Given the description of an element on the screen output the (x, y) to click on. 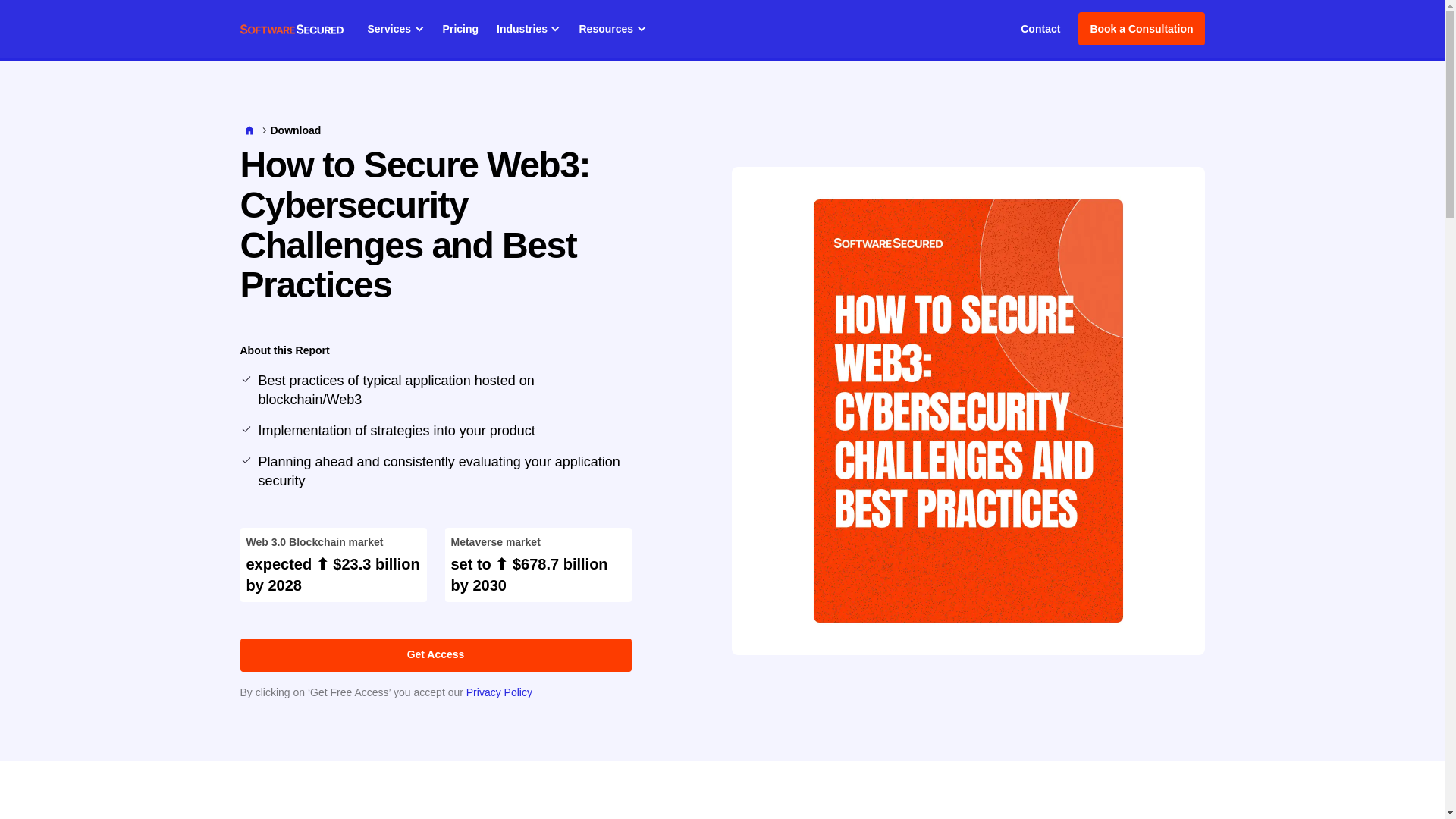
Privacy Policy (498, 692)
Pricing (460, 28)
Get Access (435, 654)
Contact (1039, 28)
Book a Consultation (1141, 28)
